Given the description of an element on the screen output the (x, y) to click on. 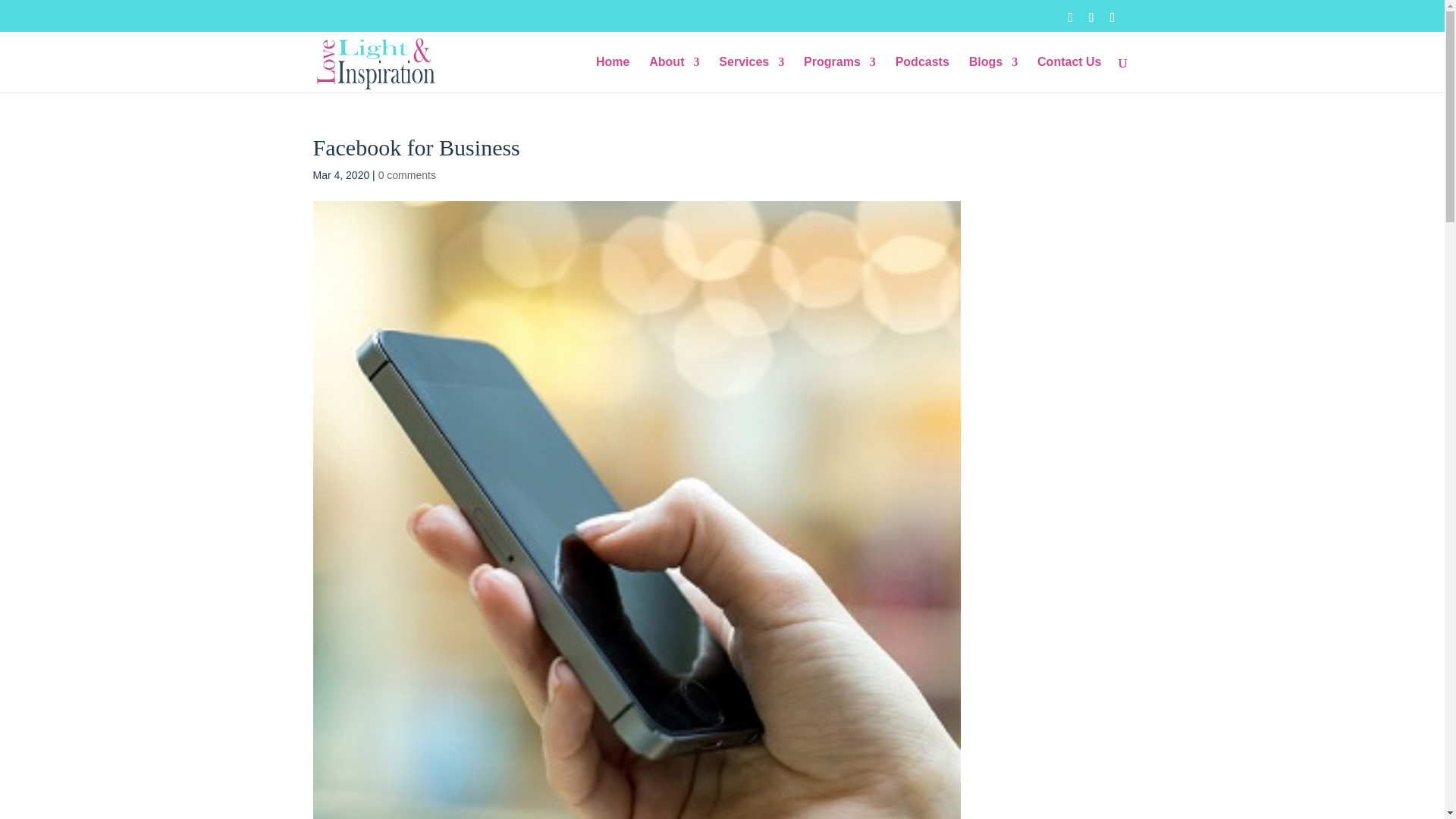
Blogs (993, 74)
Programs (839, 74)
Contact Us (1068, 74)
Home (611, 74)
Podcasts (922, 74)
About (673, 74)
Services (751, 74)
